Given the description of an element on the screen output the (x, y) to click on. 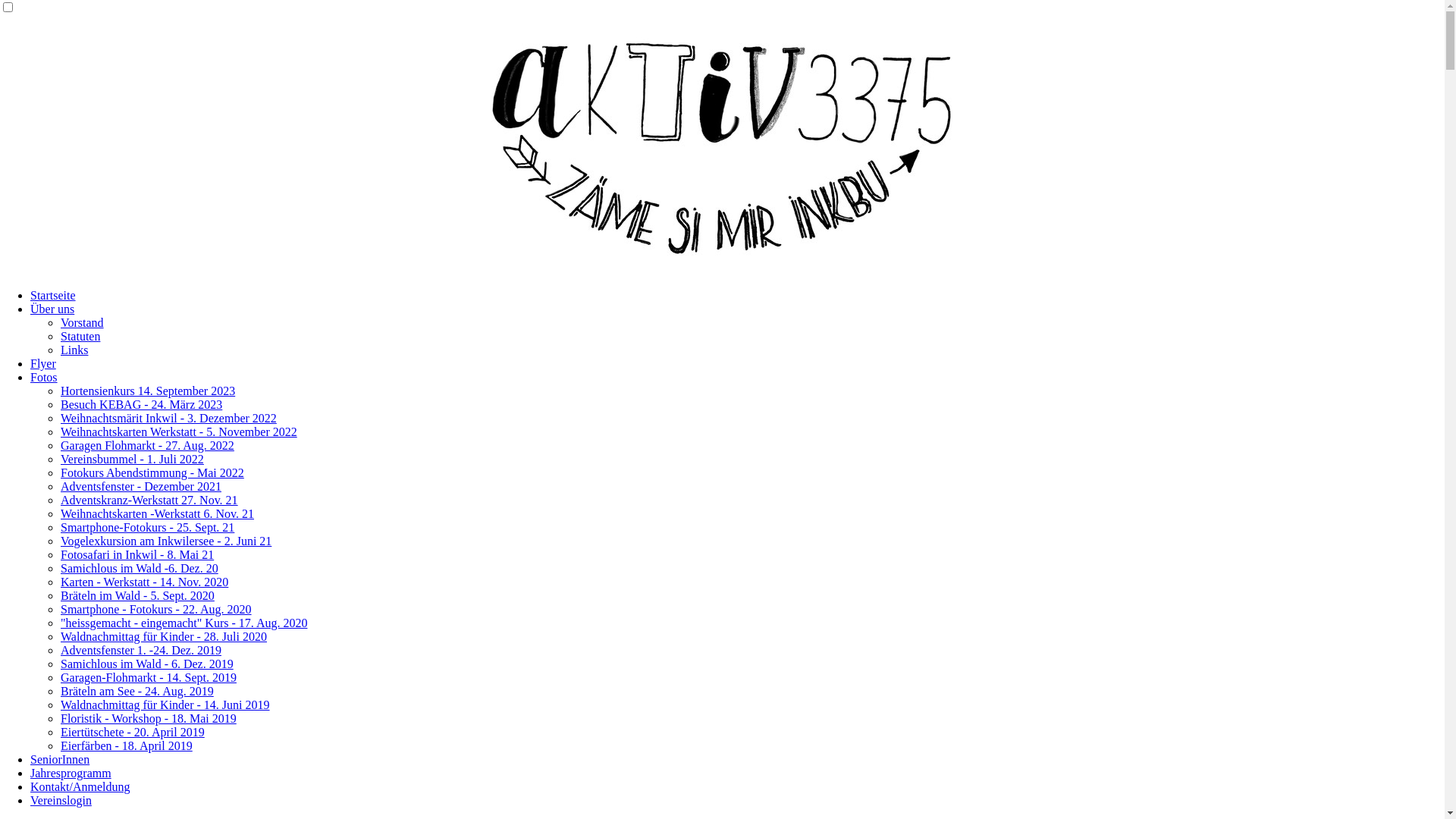
Samichlous im Wald -6. Dez. 20 Element type: text (139, 567)
Smartphone - Fotokurs - 22. Aug. 2020 Element type: text (155, 608)
Fotos Element type: text (43, 376)
Links Element type: text (73, 349)
Adventsfenster - Dezember 2021 Element type: text (140, 486)
Vereinslogin Element type: text (60, 799)
Jahresprogramm Element type: text (70, 772)
Adventskranz-Werkstatt 27. Nov. 21 Element type: text (149, 499)
Garagen Flohmarkt - 27. Aug. 2022 Element type: text (147, 445)
Statuten Element type: text (80, 335)
Smartphone-Fotokurs - 25. Sept. 21 Element type: text (147, 526)
Weihnachtskarten Werkstatt - 5. November 2022 Element type: text (178, 431)
"heissgemacht - eingemacht" Kurs - 17. Aug. 2020 Element type: text (183, 622)
Samichlous im Wald - 6. Dez. 2019 Element type: text (146, 663)
Startseite Element type: text (52, 294)
Kontakt/Anmeldung Element type: text (80, 786)
Vereinsbummel - 1. Juli 2022 Element type: text (131, 458)
Weihnachtskarten -Werkstatt 6. Nov. 21 Element type: text (157, 513)
Garagen-Flohmarkt - 14. Sept. 2019 Element type: text (148, 677)
Fotosafari in Inkwil - 8. Mai 21 Element type: text (136, 554)
Vogelexkursion am Inkwilersee - 2. Juni 21 Element type: text (165, 540)
Karten - Werkstatt - 14. Nov. 2020 Element type: text (144, 581)
Fotokurs Abendstimmung - Mai 2022 Element type: text (152, 472)
SeniorInnen Element type: text (59, 759)
Vorstand Element type: text (81, 322)
Floristik - Workshop - 18. Mai 2019 Element type: text (148, 718)
Flyer Element type: text (43, 363)
Adventsfenster 1. -24. Dez. 2019 Element type: text (140, 649)
Hortensienkurs 14. September 2023 Element type: text (147, 390)
